Given the description of an element on the screen output the (x, y) to click on. 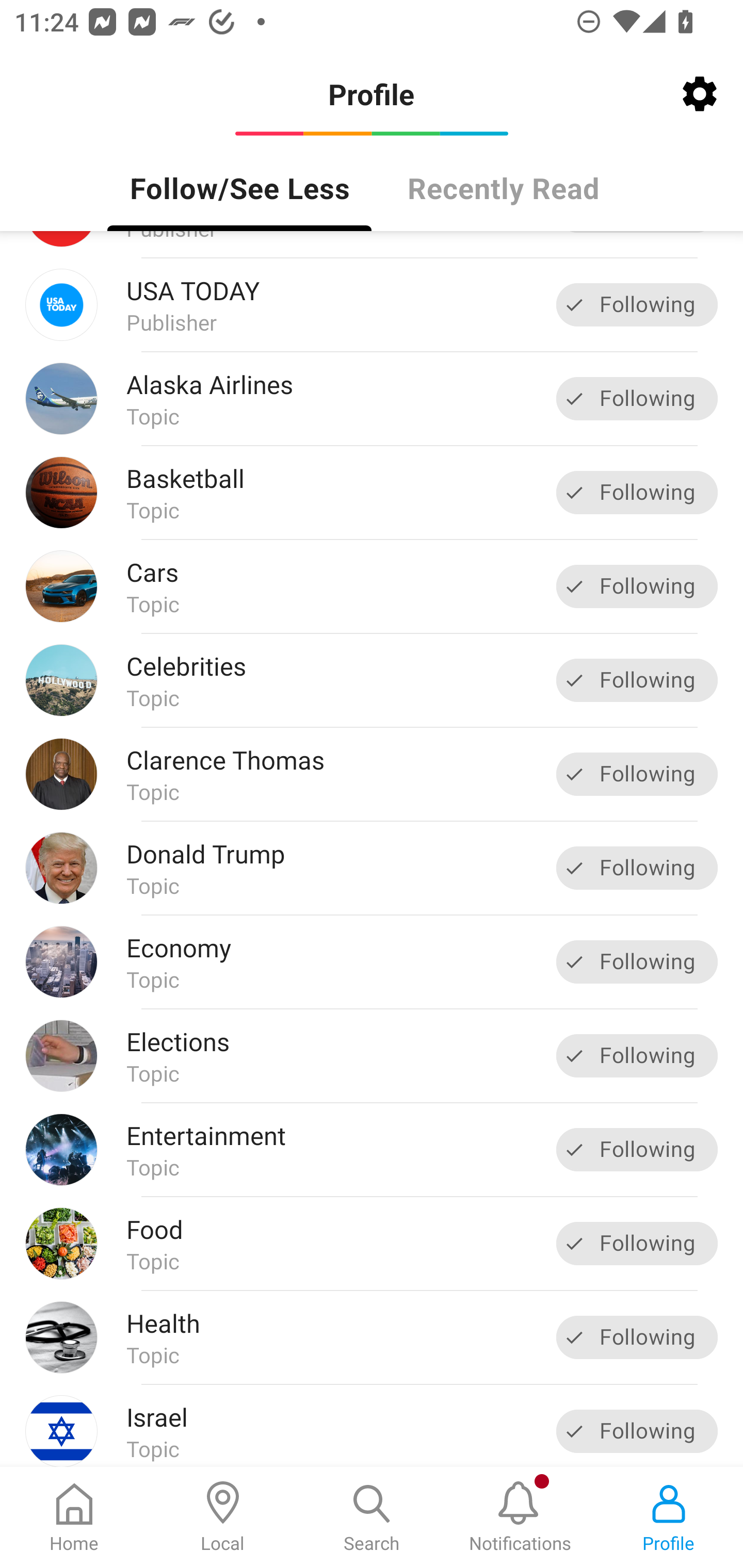
Settings (699, 93)
Recently Read (503, 187)
USA TODAY Publisher Following (371, 304)
Following (636, 304)
Alaska Airlines Topic Following (371, 398)
Following (636, 398)
Basketball Topic Following (371, 492)
Following (636, 492)
Cars Topic Following (371, 586)
Following (636, 586)
Celebrities Topic Following (371, 680)
Following (636, 680)
Clarence Thomas Topic Following (371, 774)
Following (636, 774)
Donald Trump Topic Following (371, 868)
Following (636, 867)
Economy Topic Following (371, 961)
Following (636, 961)
Elections Topic Following (371, 1055)
Following (636, 1055)
Entertainment Topic Following (371, 1149)
Following (636, 1149)
Food Topic Following (371, 1243)
Following (636, 1243)
Health Topic Following (371, 1337)
Following (636, 1337)
Israel Topic Following (371, 1425)
Following (636, 1431)
Home (74, 1517)
Local (222, 1517)
Search (371, 1517)
Notifications, New notification Notifications (519, 1517)
